Given the description of an element on the screen output the (x, y) to click on. 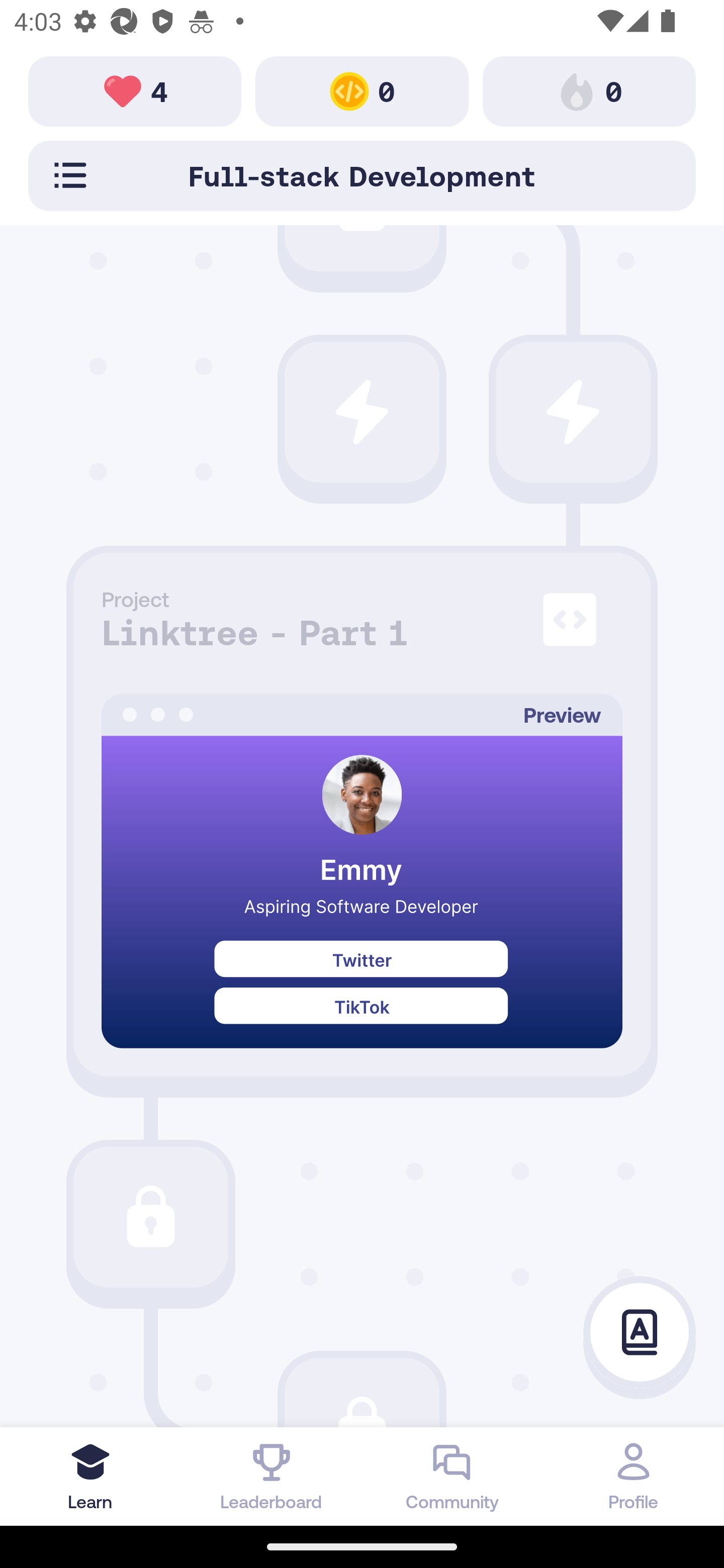
Path Toolbar Image 4 (134, 90)
Path Toolbar Image 0 (361, 90)
Path Toolbar Image 0 (588, 90)
Path Toolbar Selector Full-stack Development (361, 175)
Path Icon (361, 411)
Path Icon (572, 411)
Path Icon (150, 1216)
Glossary Icon (639, 1332)
Leaderboard (271, 1475)
Community (452, 1475)
Profile (633, 1475)
